Given the description of an element on the screen output the (x, y) to click on. 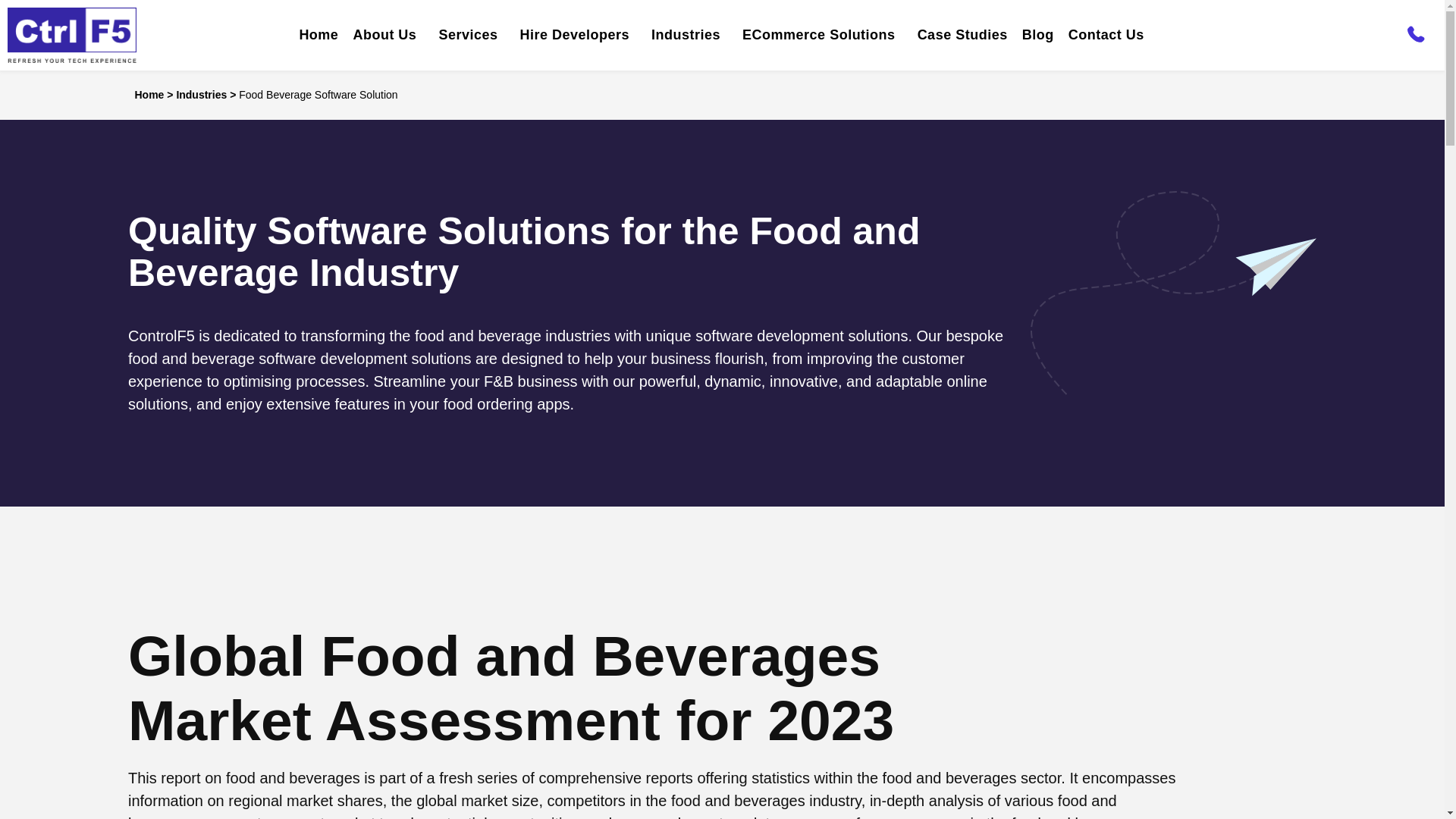
Home (317, 34)
ECommerce Solutions (822, 34)
Hire Developers (578, 34)
About Us (387, 34)
Services (471, 34)
Industries (689, 34)
